Given the description of an element on the screen output the (x, y) to click on. 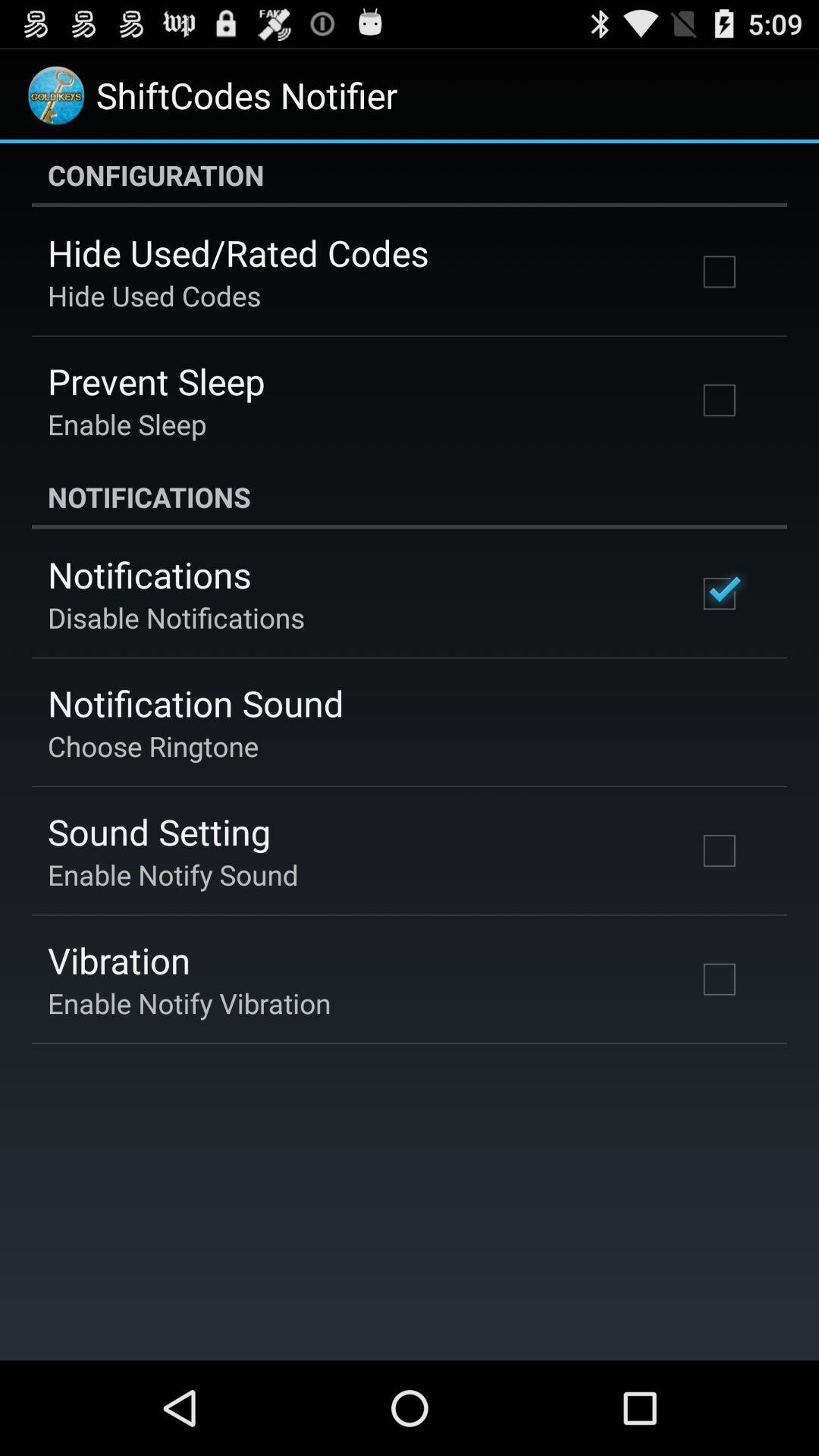
press item below the notifications app (175, 617)
